Given the description of an element on the screen output the (x, y) to click on. 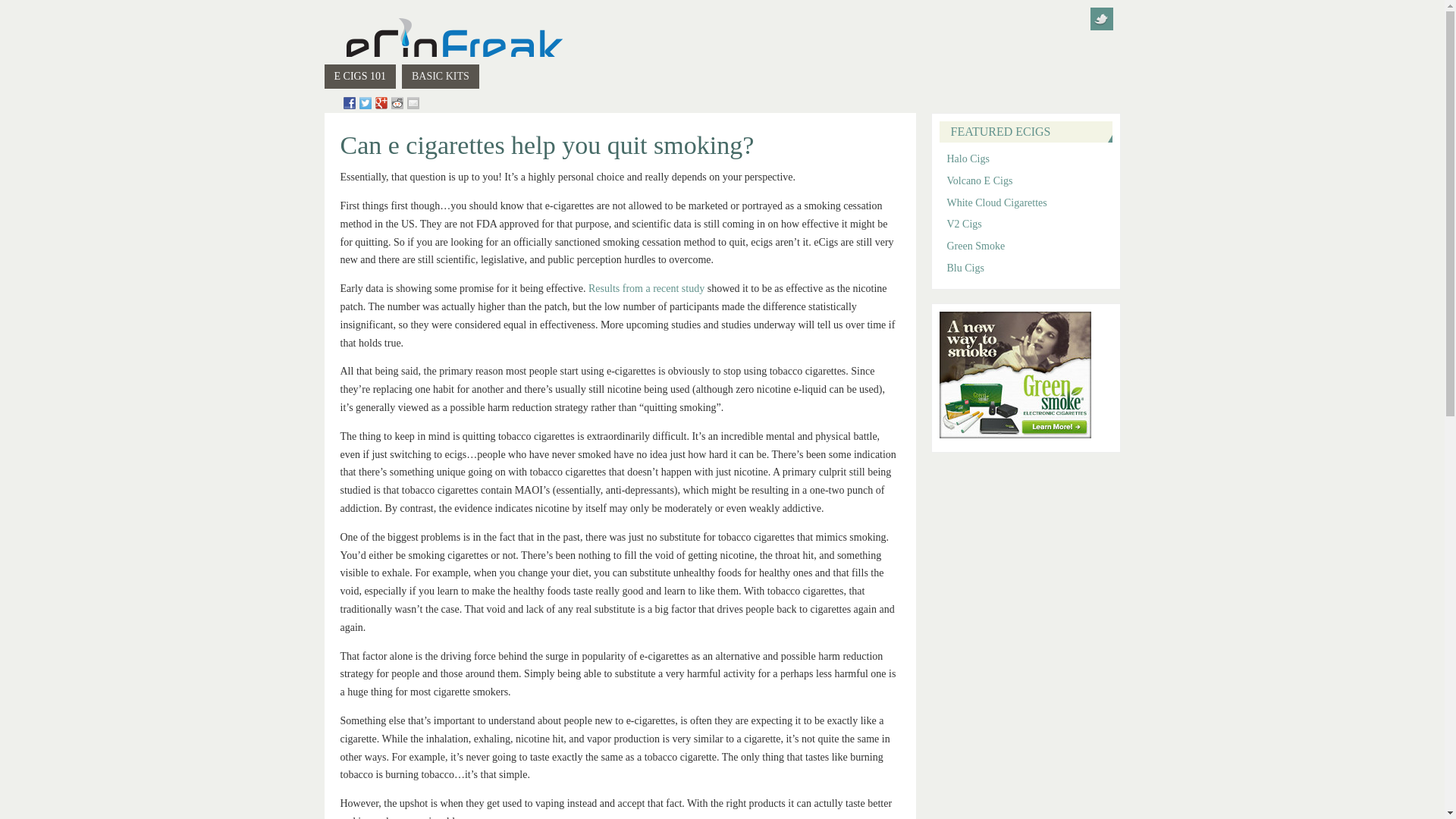
V2 Cigs (963, 224)
Share on Twitter (365, 102)
E CIGS 101 (360, 76)
Halo Cigs (967, 158)
Twitter (1101, 18)
White Cloud Cigarettes (996, 202)
Share on Facebook (348, 102)
Volcano E Cigs (978, 180)
Share on Reddit (397, 102)
Results from a recent study (646, 288)
BASIC KITS (440, 76)
Share by email (412, 102)
